Given the description of an element on the screen output the (x, y) to click on. 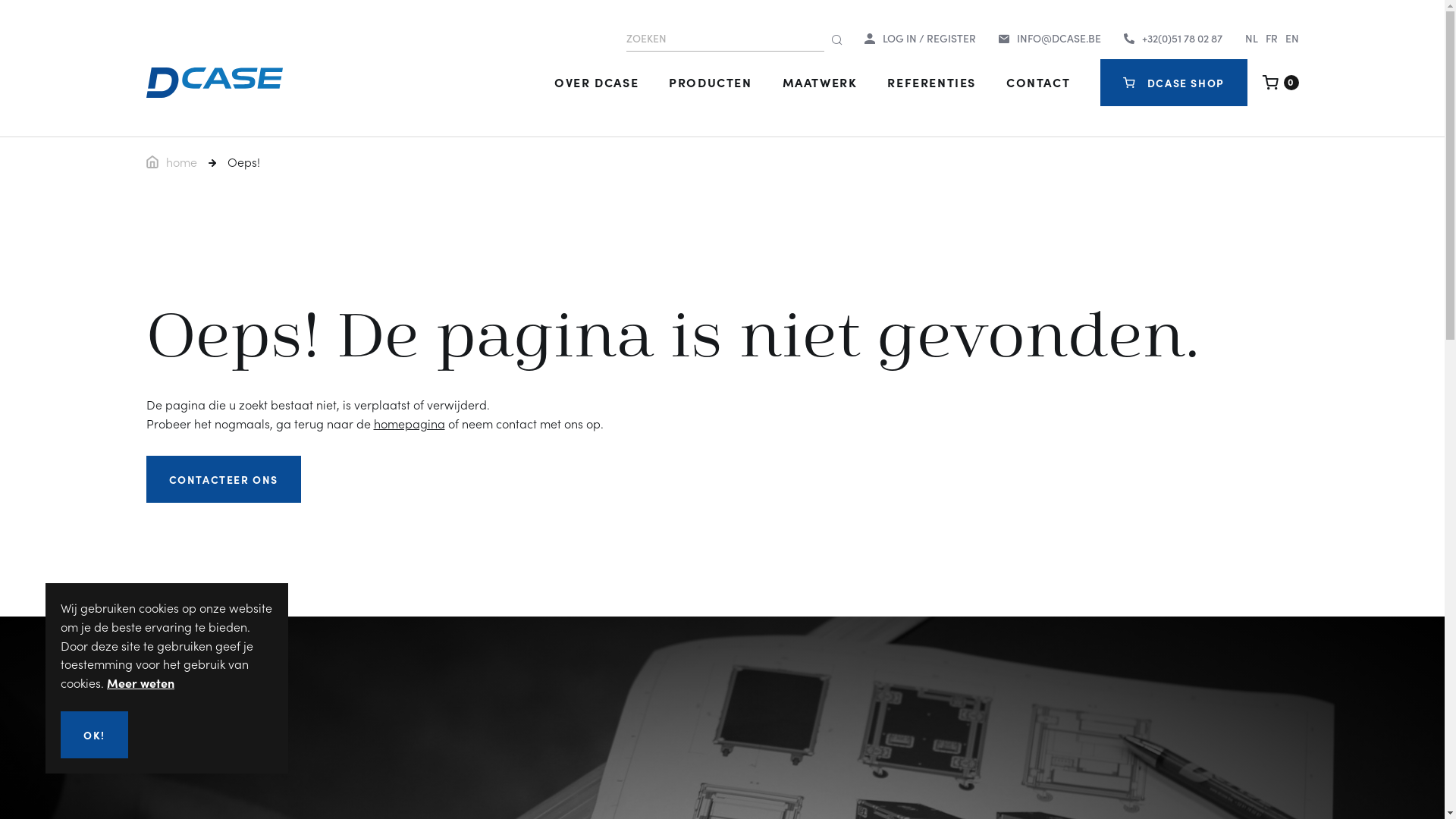
MAATWERK Element type: text (819, 81)
Oeps! Element type: text (233, 161)
Overslaan en naar de inhoud gaan Element type: text (0, 0)
REFERENTIES Element type: text (931, 81)
homepagina Element type: text (408, 422)
home Element type: text (170, 161)
OVER DCASE Element type: text (596, 81)
Apply Element type: text (1299, 676)
EN Element type: text (1291, 37)
DCASE SHOP Element type: text (1173, 82)
Apply Element type: text (835, 40)
FR Element type: text (1270, 37)
NL Element type: text (1251, 37)
PRODUCTEN Element type: text (709, 81)
0 Element type: text (1280, 82)
+32(0)51 78 02 87 Element type: text (1172, 38)
Meer weten Element type: text (140, 682)
INFO@DCASE.BE Element type: text (1048, 38)
LOG IN / REGISTER Element type: text (919, 38)
OK! Element type: text (94, 734)
CONTACTEER ONS Element type: text (222, 478)
CONTACT Element type: text (1038, 81)
